Given the description of an element on the screen output the (x, y) to click on. 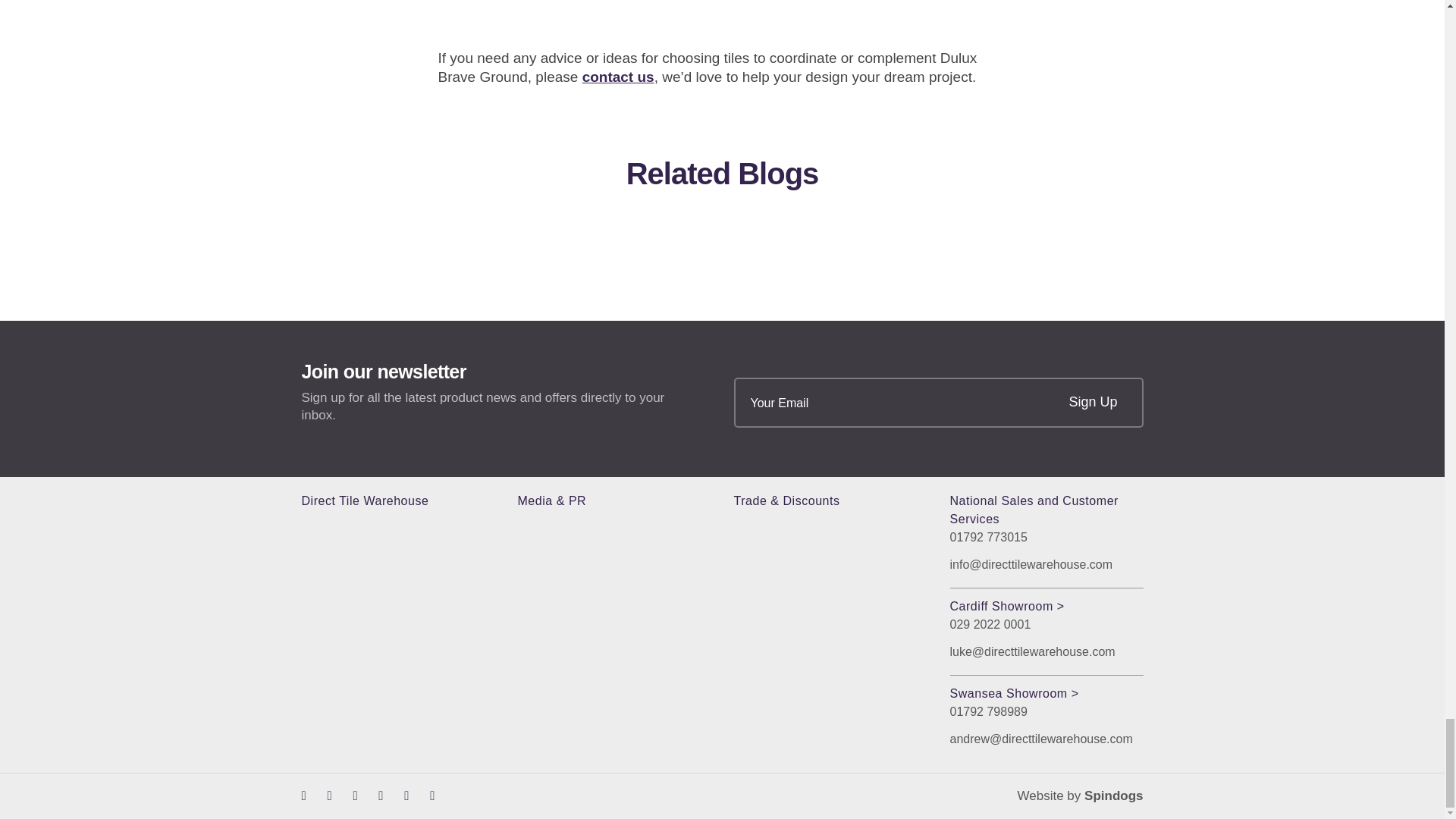
01792 773015 (1045, 537)
029 2022 0001 (1045, 624)
Contact Direct Tile Warehouse (617, 76)
